Given the description of an element on the screen output the (x, y) to click on. 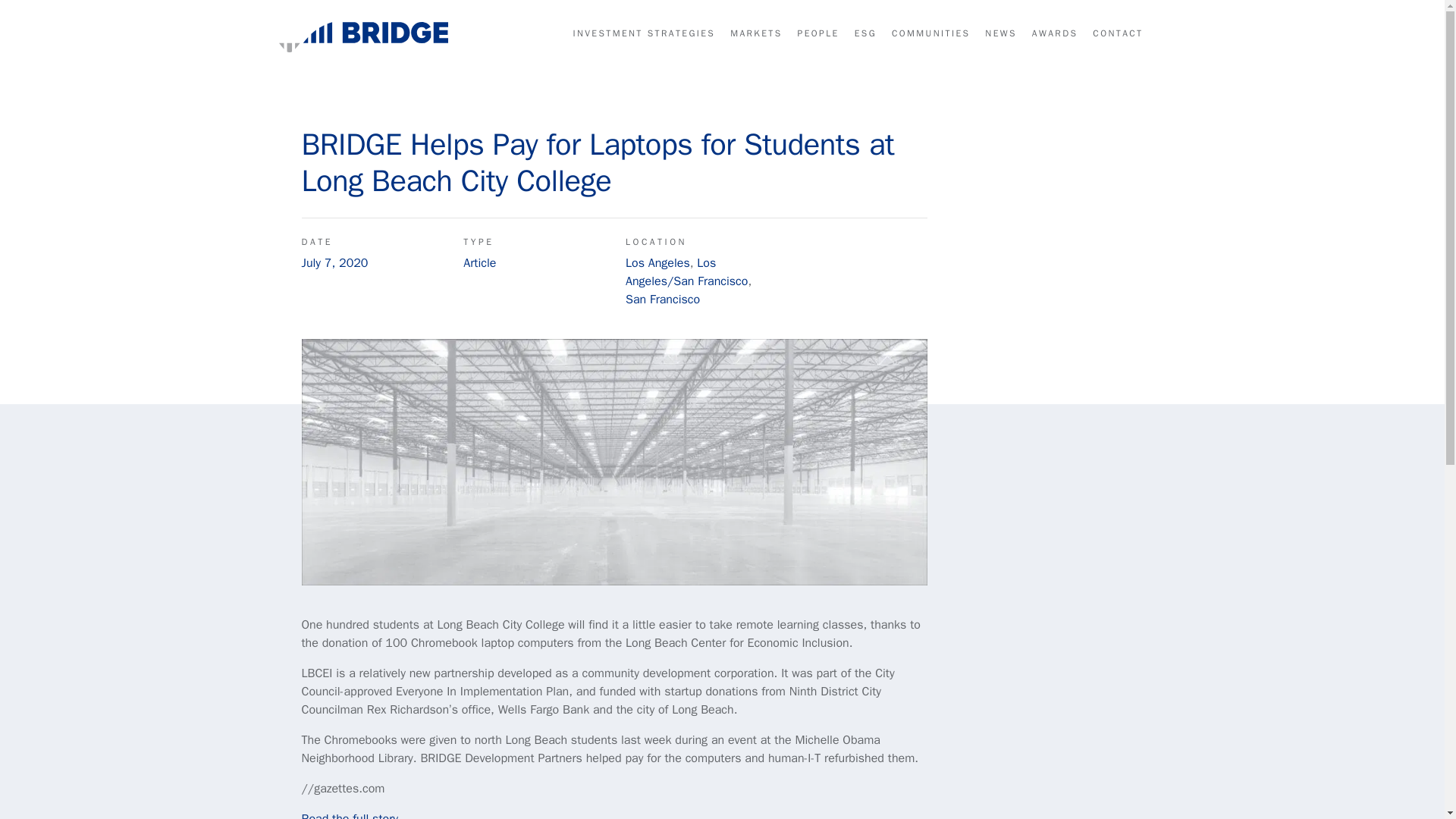
San Francisco (663, 299)
Read the full story (349, 815)
PEOPLE (818, 33)
INVESTMENT STRATEGIES (643, 33)
MARKETS (755, 33)
NEWS (1000, 33)
ESG (865, 33)
AWARDS (1054, 33)
COMMUNITIES (930, 33)
Article (479, 263)
CONTACT (1117, 33)
Los Angeles (658, 263)
